Given the description of an element on the screen output the (x, y) to click on. 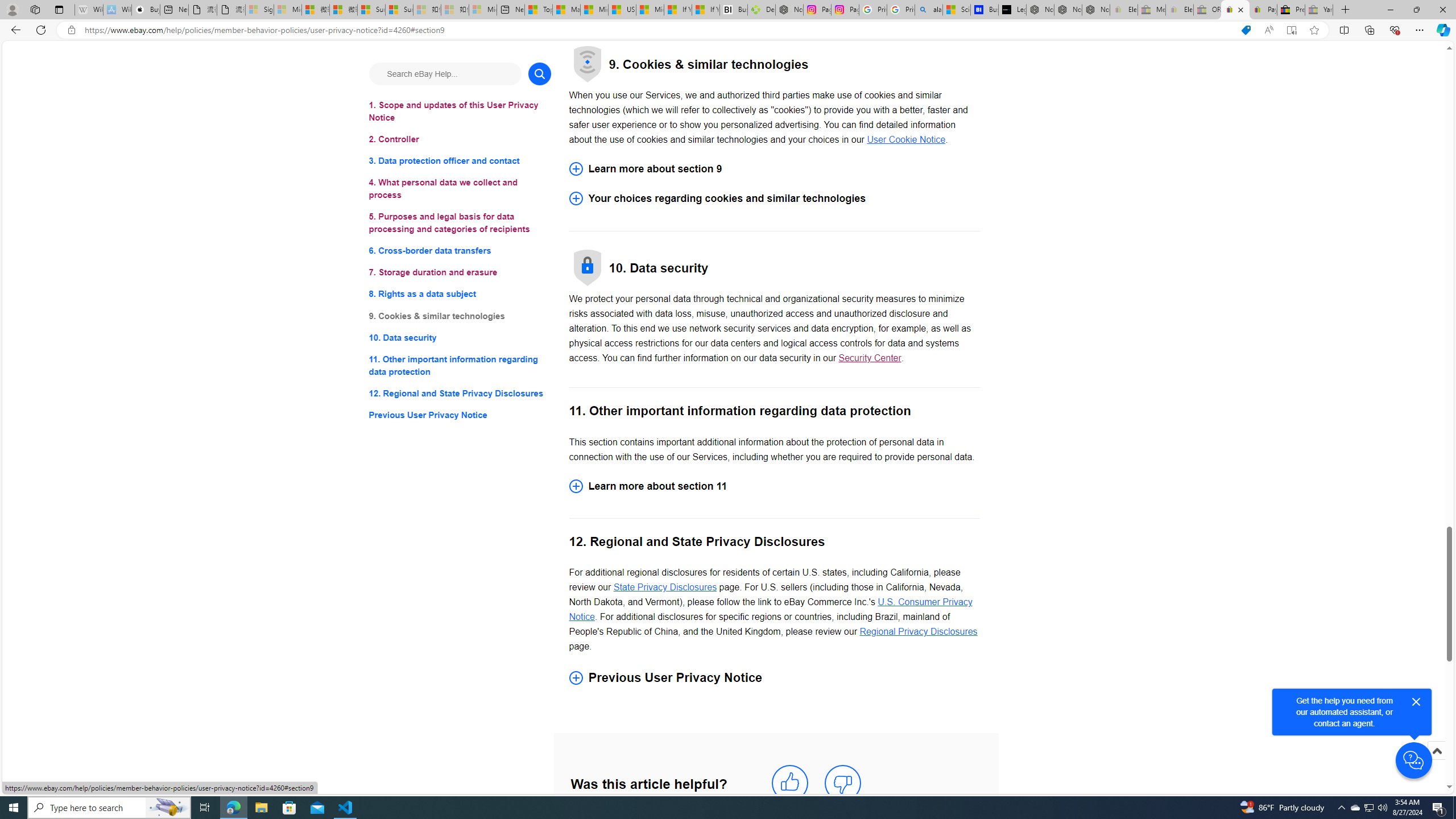
US Heat Deaths Soared To Record High Last Year (621, 9)
2. Controller (459, 138)
Yard, Garden & Outdoor Living - Sleeping (1319, 9)
Press Room - eBay Inc. (1291, 9)
Sign in to your Microsoft account - Sleeping (259, 9)
